Given the description of an element on the screen output the (x, y) to click on. 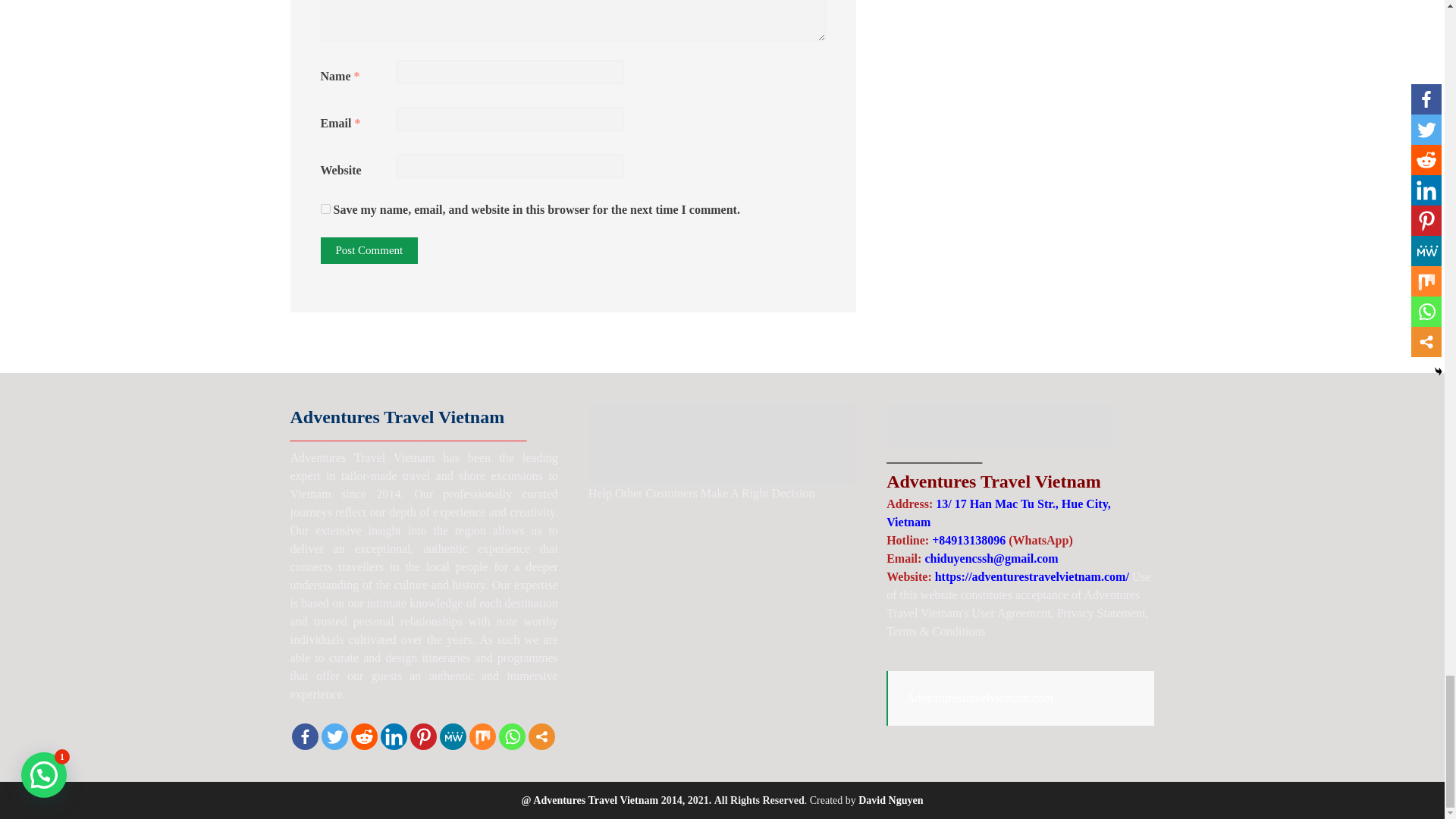
yes (325, 208)
Post Comment (368, 250)
